Given the description of an element on the screen output the (x, y) to click on. 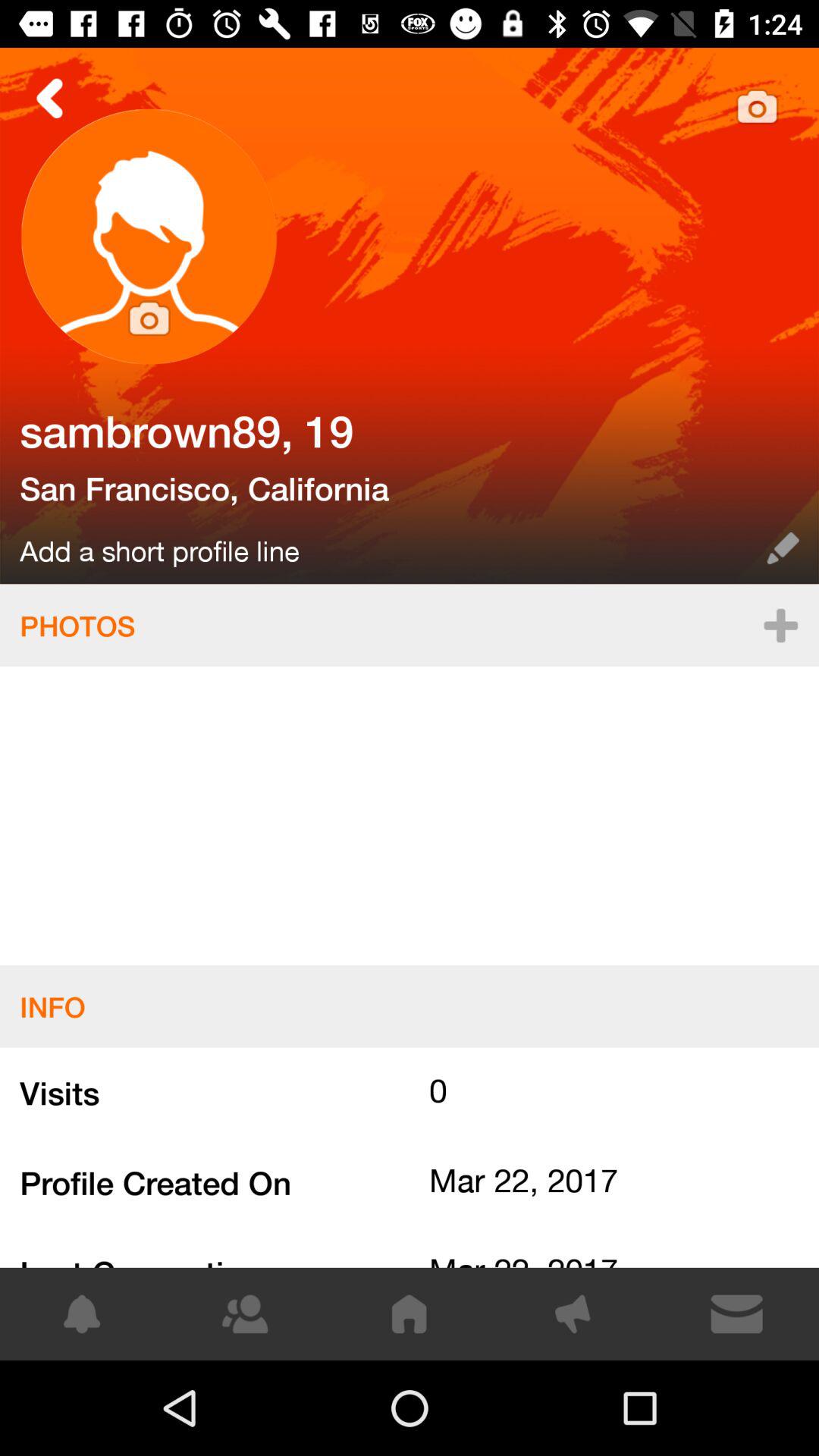
profile picture (148, 236)
